Given the description of an element on the screen output the (x, y) to click on. 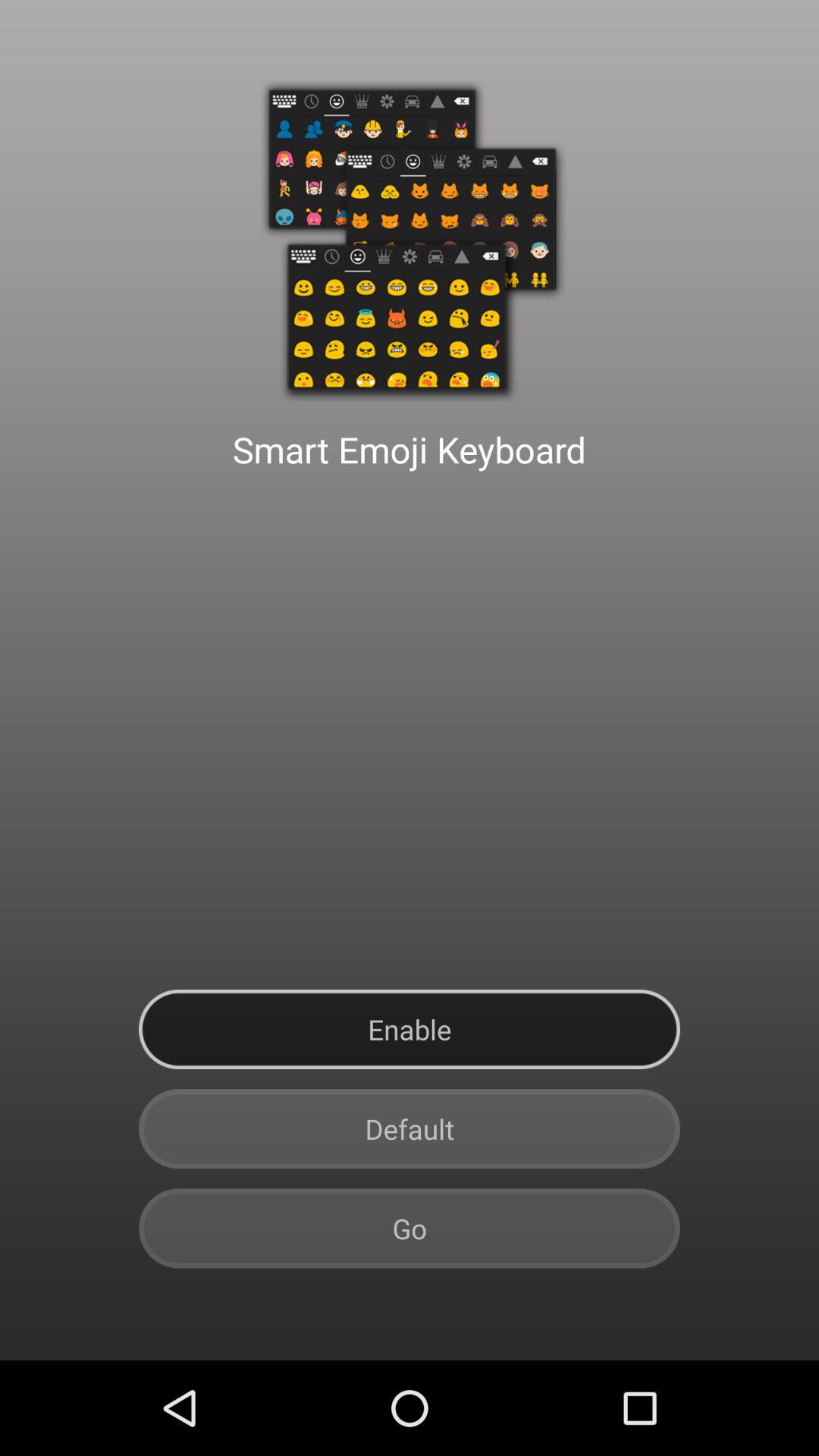
tap the item below default item (409, 1228)
